Given the description of an element on the screen output the (x, y) to click on. 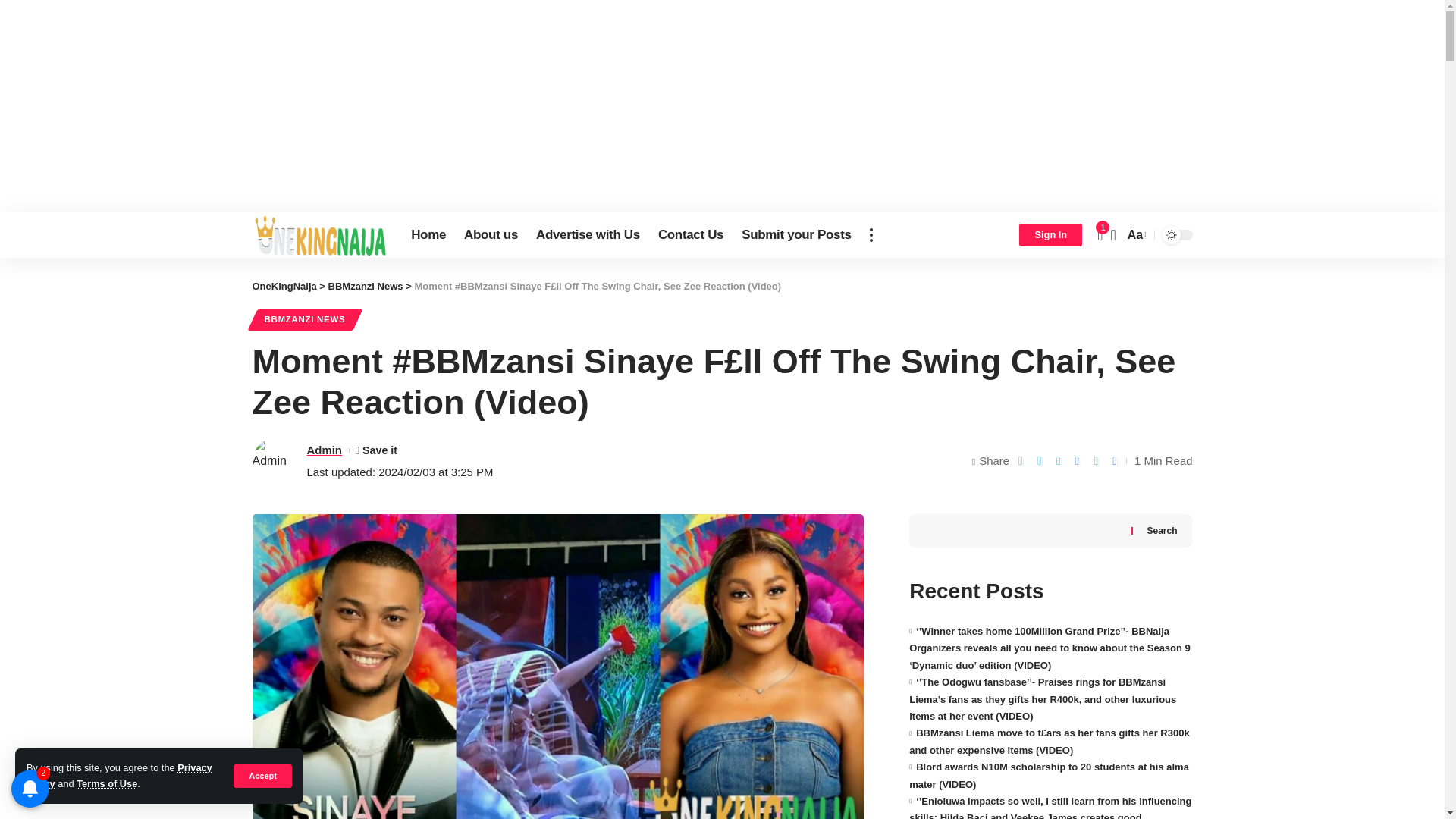
Contact Us (690, 234)
Go to the BBMzanzi News Category archives. (366, 285)
OneKingNaija (283, 285)
OneKingNaija (319, 234)
Privacy Policy (119, 775)
Accept (262, 775)
About us (490, 234)
BBMZANZI NEWS (303, 319)
Aa (1135, 234)
BBMzanzi News (366, 285)
Terms of Use (106, 783)
Home (427, 234)
Submit your Posts (796, 234)
Sign In (1050, 234)
Go to OneKingNaija. (283, 285)
